Given the description of an element on the screen output the (x, y) to click on. 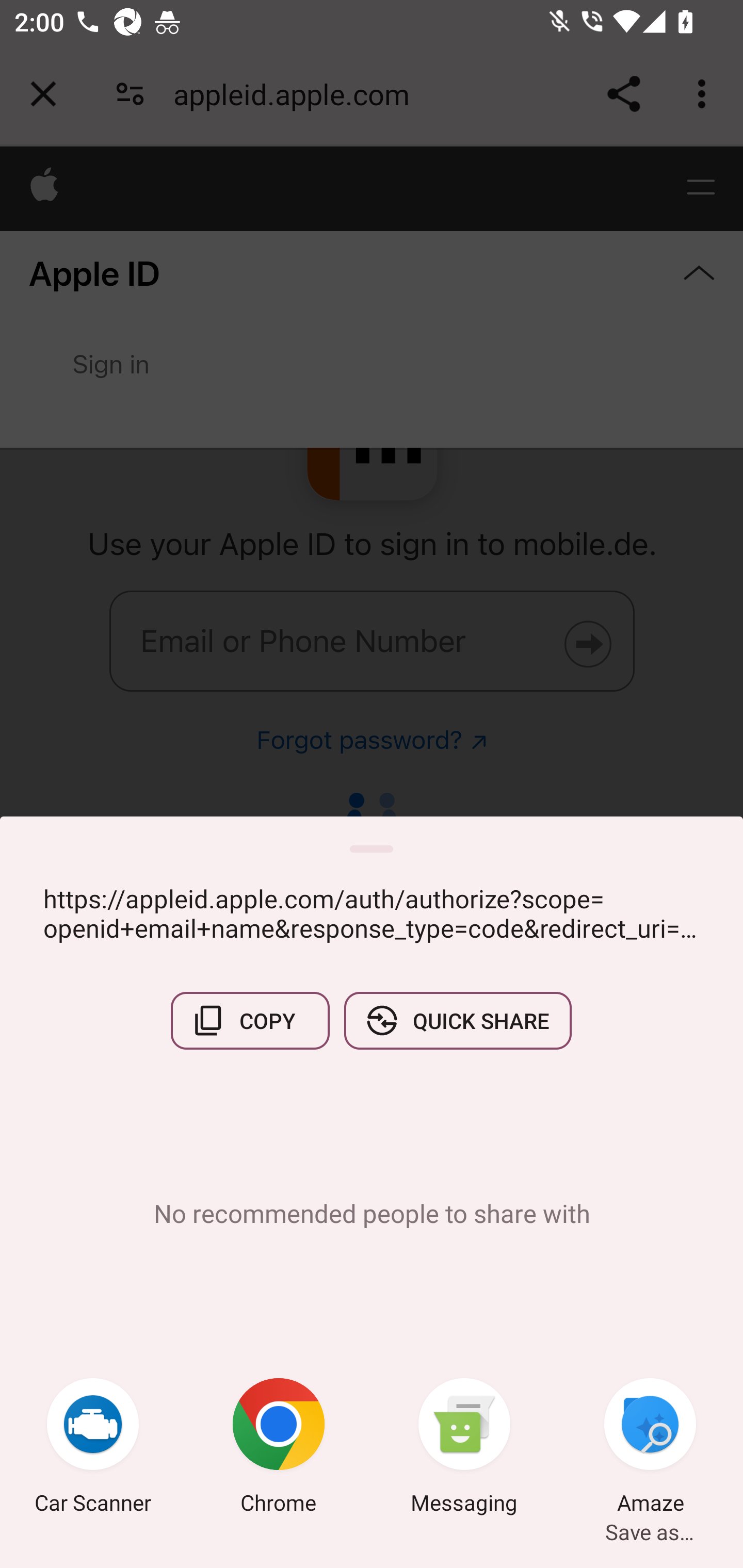
COPY (249, 1020)
QUICK SHARE (457, 1020)
Car Scanner (92, 1448)
Chrome (278, 1448)
Messaging (464, 1448)
Amaze Save as… (650, 1448)
